Given the description of an element on the screen output the (x, y) to click on. 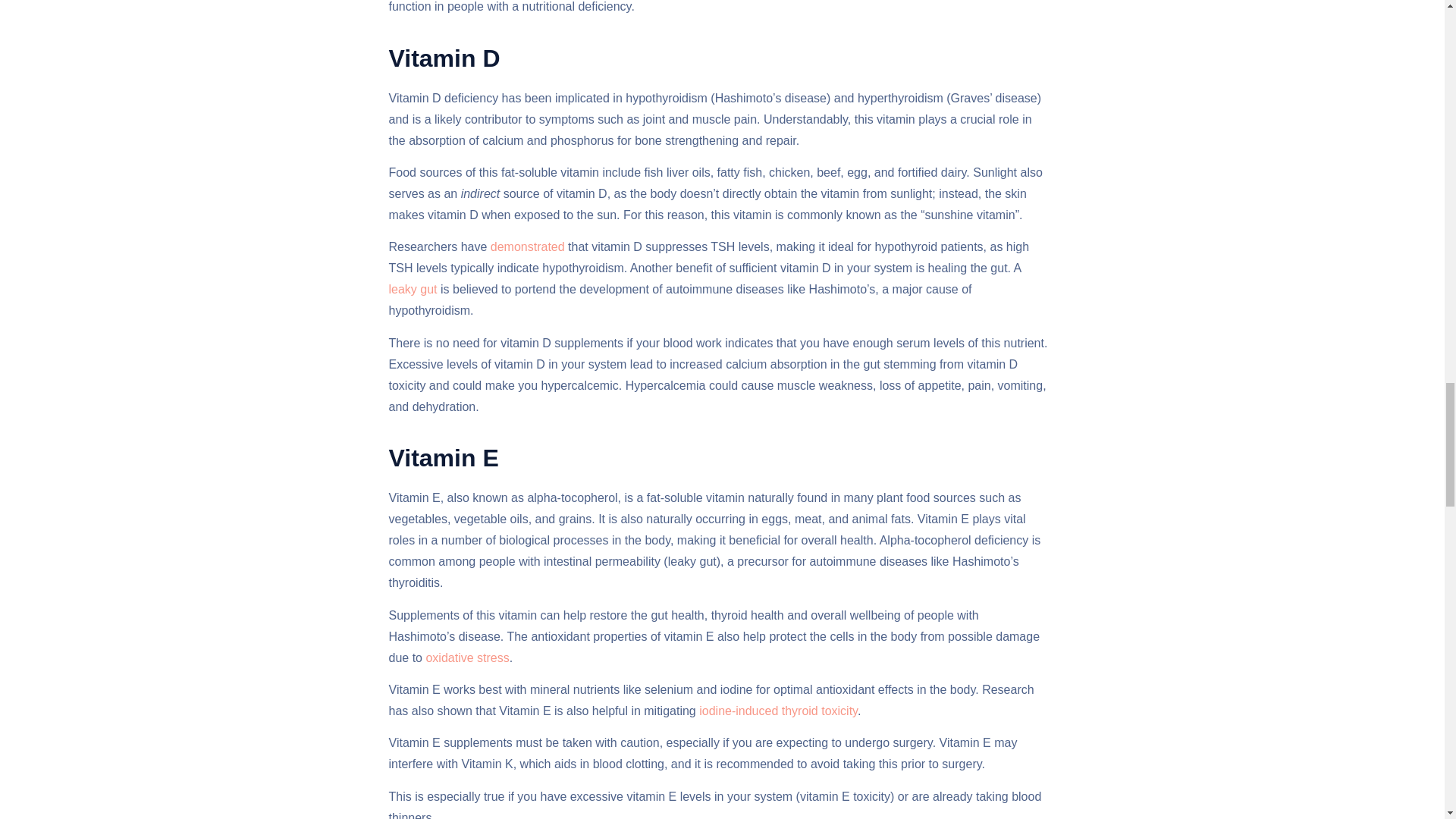
demonstrated (525, 246)
iodine-induced thyroid toxicity (776, 710)
oxidative stress (465, 657)
leaky gut (412, 288)
